Given the description of an element on the screen output the (x, y) to click on. 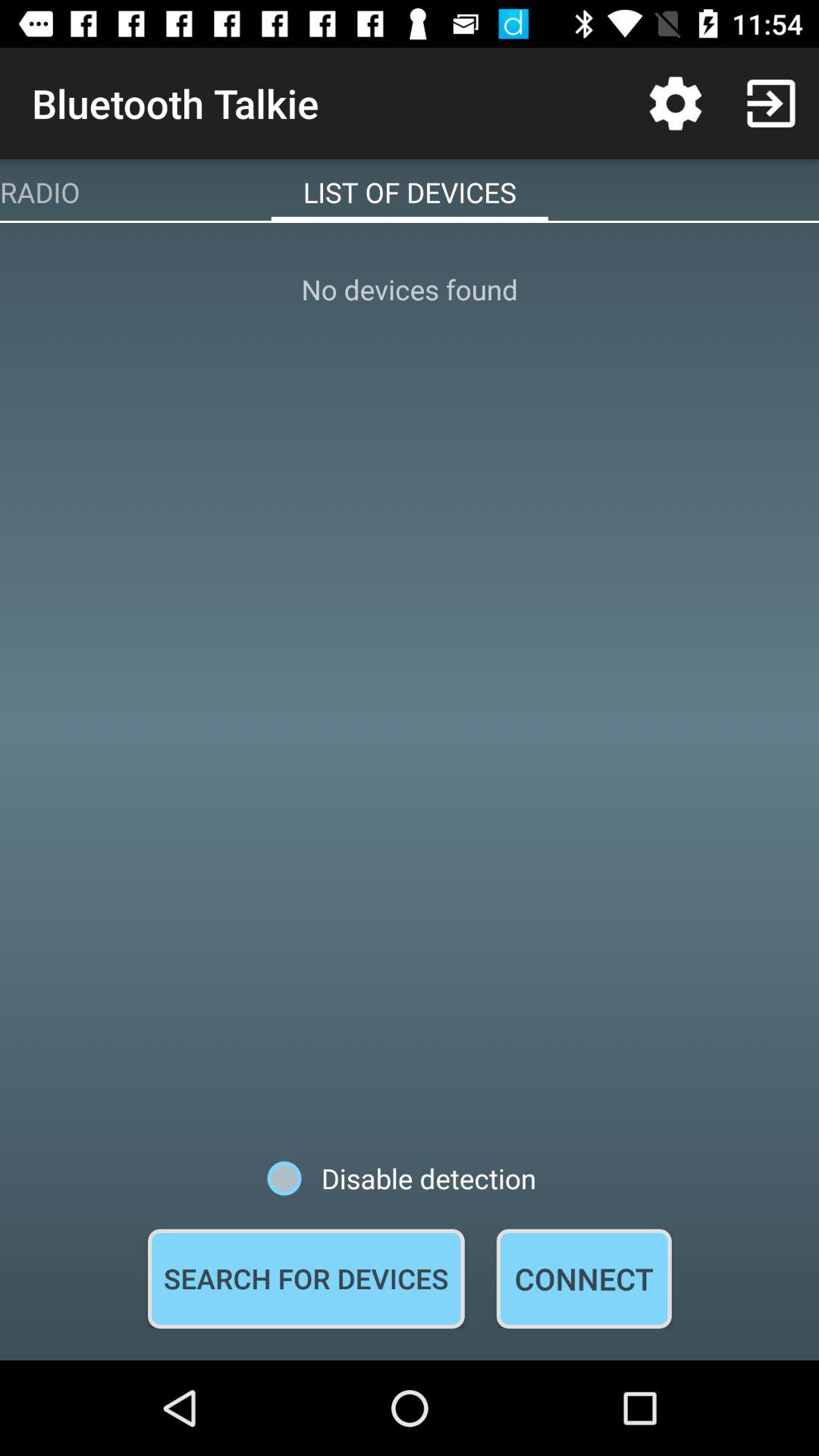
launch the icon below disable detection icon (305, 1278)
